Given the description of an element on the screen output the (x, y) to click on. 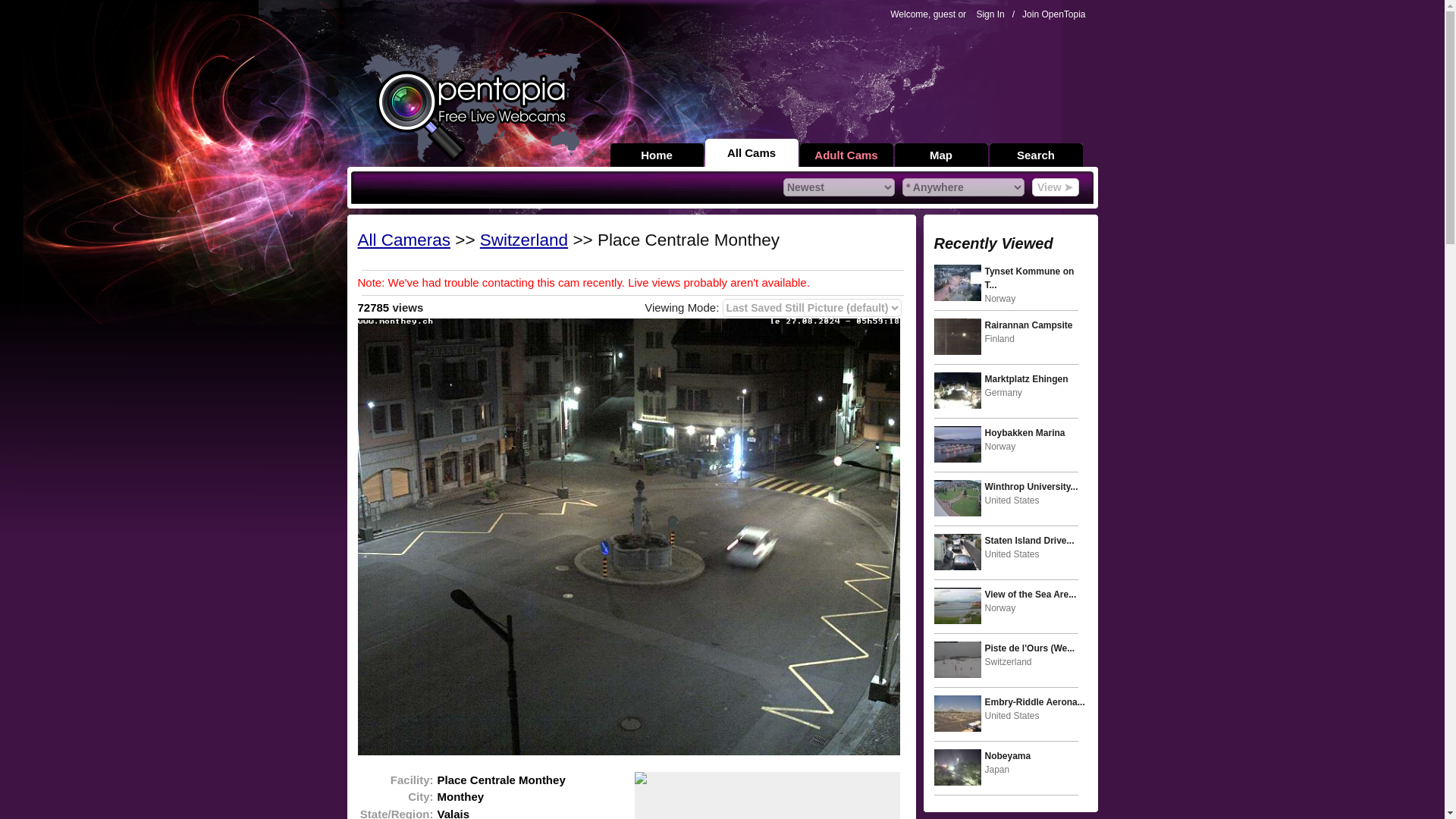
Search (1034, 155)
All Cameras (404, 239)
Home (656, 155)
Sign In (989, 14)
All Cams (750, 152)
Join OpenTopia (1053, 14)
Adult Cams (845, 155)
Map (941, 155)
Switzerland (523, 239)
